Given the description of an element on the screen output the (x, y) to click on. 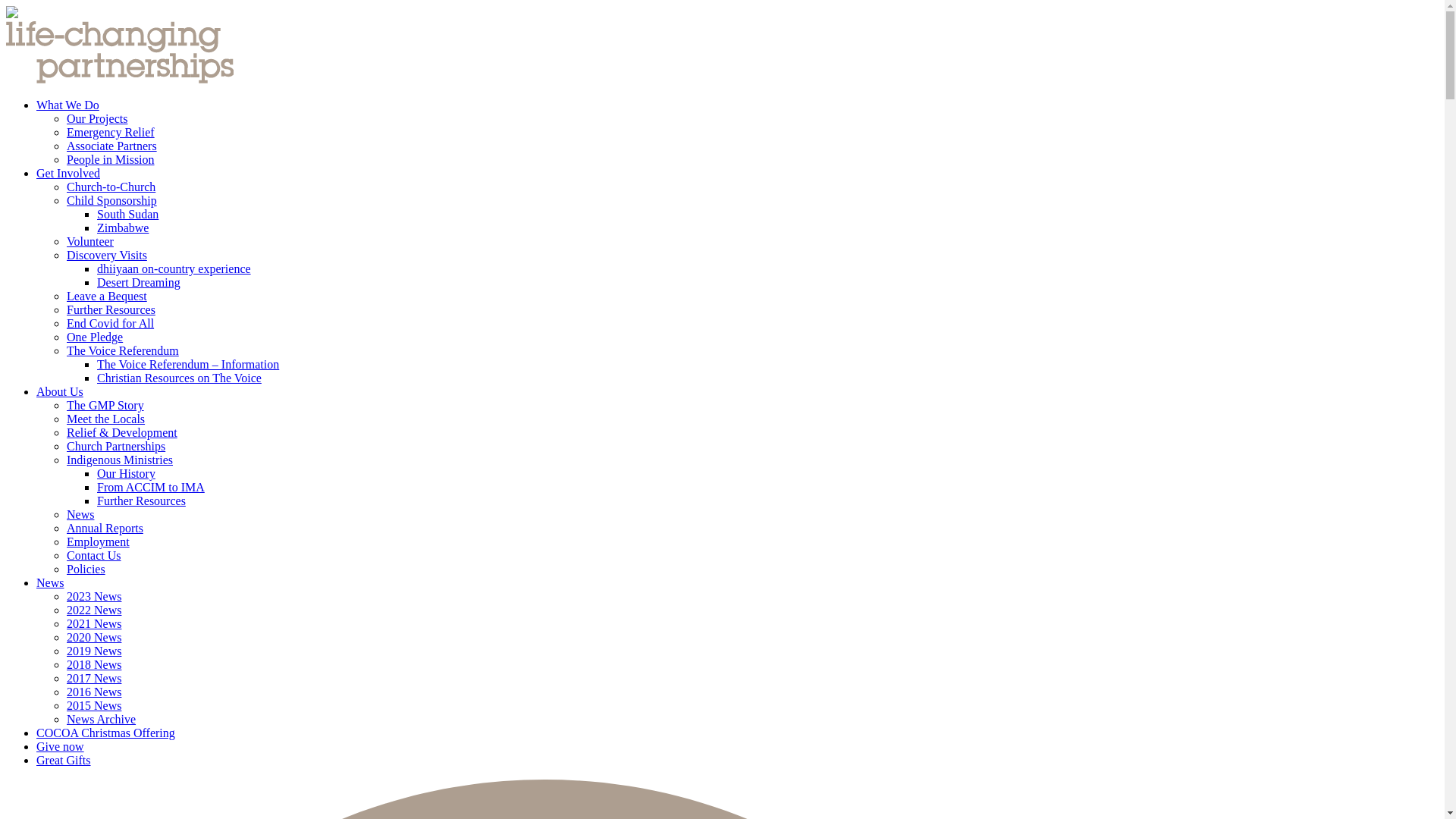
Policies Element type: text (85, 568)
2015 News Element type: text (93, 705)
Great Gifts Element type: text (63, 759)
The Voice Referendum Element type: text (122, 350)
News Element type: text (49, 582)
Get Involved Element type: text (68, 172)
Further Resources Element type: text (110, 309)
From ACCIM to IMA Element type: text (150, 486)
2021 News Element type: text (93, 623)
Emergency Relief Element type: text (110, 131)
Contact Us Element type: text (93, 555)
The GMP Story Element type: text (105, 404)
South Sudan Element type: text (127, 213)
Further Resources Element type: text (141, 500)
Church-to-Church Element type: text (110, 186)
Employment Element type: text (97, 541)
2016 News Element type: text (93, 691)
COCOA Christmas Offering Element type: text (105, 732)
2020 News Element type: text (93, 636)
What We Do Element type: text (67, 104)
dhiiyaan on-country experience Element type: text (174, 268)
2019 News Element type: text (93, 650)
Leave a Bequest Element type: text (106, 295)
Desert Dreaming Element type: text (138, 282)
Give now Element type: text (60, 746)
2018 News Element type: text (93, 664)
One Pledge Element type: text (94, 336)
News Archive Element type: text (100, 718)
Annual Reports Element type: text (104, 527)
Volunteer Element type: text (89, 241)
End Covid for All Element type: text (109, 322)
Discovery Visits Element type: text (106, 254)
People in Mission Element type: text (110, 159)
Indigenous Ministries Element type: text (119, 459)
Child Sponsorship Element type: text (111, 200)
Zimbabwe Element type: text (122, 227)
Church Partnerships Element type: text (115, 445)
About Us Element type: text (59, 391)
Associate Partners Element type: text (111, 145)
News Element type: text (80, 514)
2017 News Element type: text (93, 677)
2023 News Element type: text (93, 595)
Relief & Development Element type: text (121, 432)
Our Projects Element type: text (96, 118)
Christian Resources on The Voice Element type: text (179, 377)
Our History Element type: text (126, 473)
2022 News Element type: text (93, 609)
Meet the Locals Element type: text (105, 418)
